Given the description of an element on the screen output the (x, y) to click on. 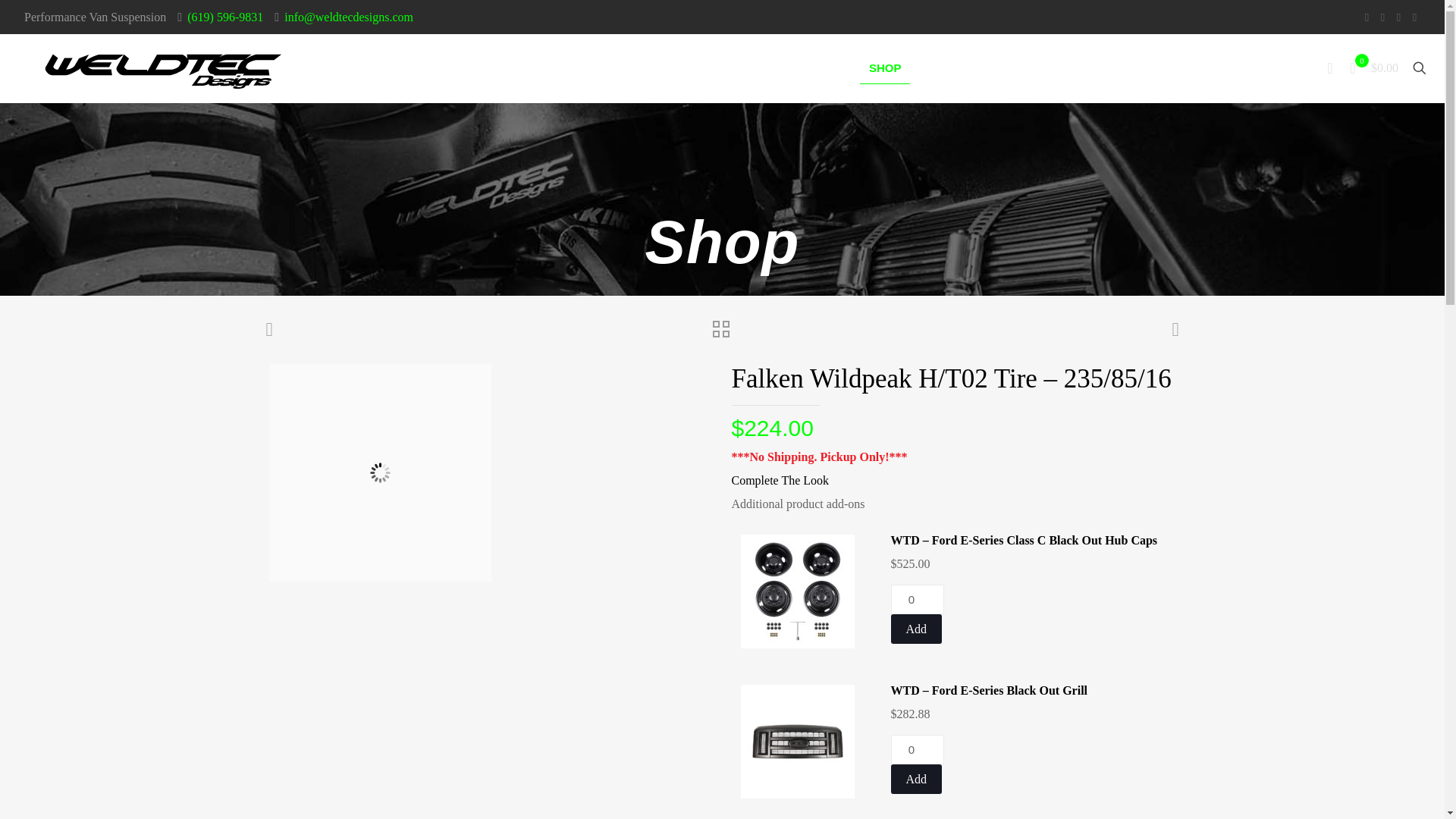
BLOG (1185, 68)
Add (915, 628)
Facebook (1367, 17)
0 (916, 749)
Ford-E-Series-Blacked-Out-Grill.jpg (796, 741)
DIRECTIONS (1105, 68)
DEALERS (958, 68)
Pinterest (1399, 17)
WeldTec Designs (166, 68)
YouTube (1383, 17)
